Given the description of an element on the screen output the (x, y) to click on. 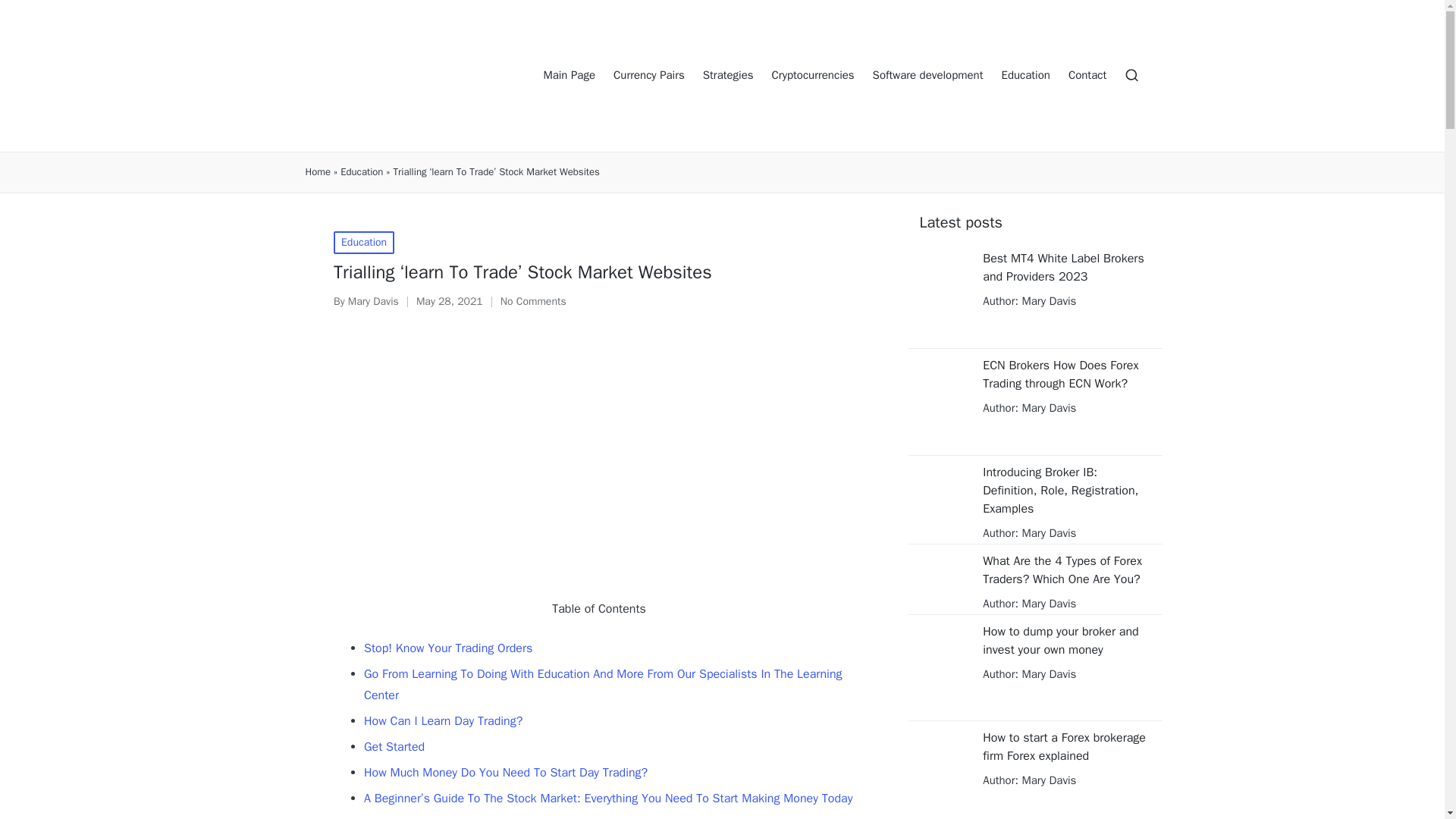
How Can I Learn Day Trading? (443, 720)
No Comments (533, 301)
Contact (1087, 75)
Main Page (569, 75)
Best MT4 White Label Brokers and Providers 2023 (1066, 267)
Mary Davis (1046, 532)
ECN Brokers How Does Forex Trading through ECN Work? (1066, 374)
Home (317, 171)
Currency Pairs (648, 75)
Get Started (394, 746)
View all posts by Mary Davis (372, 300)
Cryptocurrencies (812, 75)
Education (363, 241)
